Given the description of an element on the screen output the (x, y) to click on. 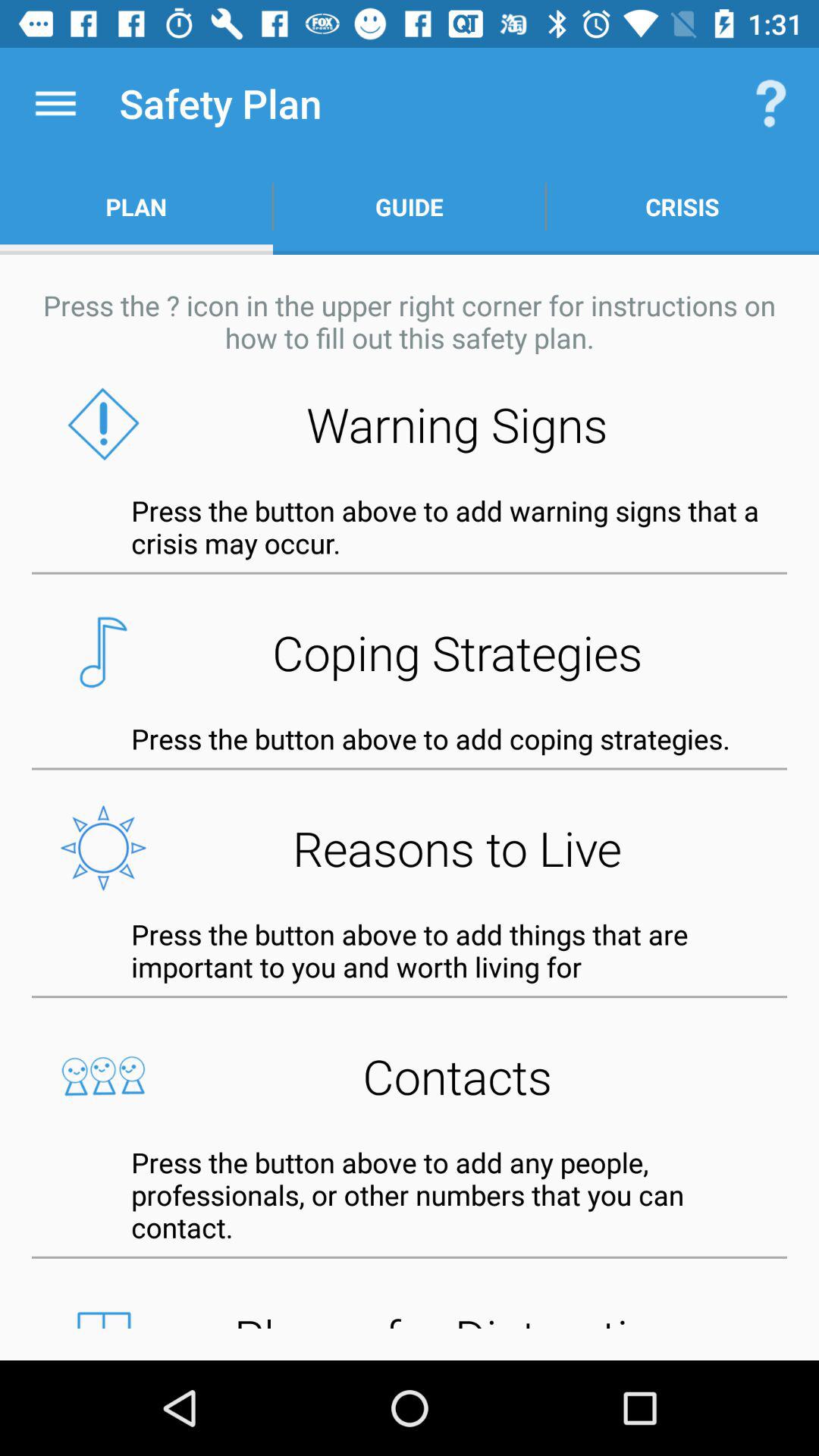
choose the contacts (409, 1075)
